Given the description of an element on the screen output the (x, y) to click on. 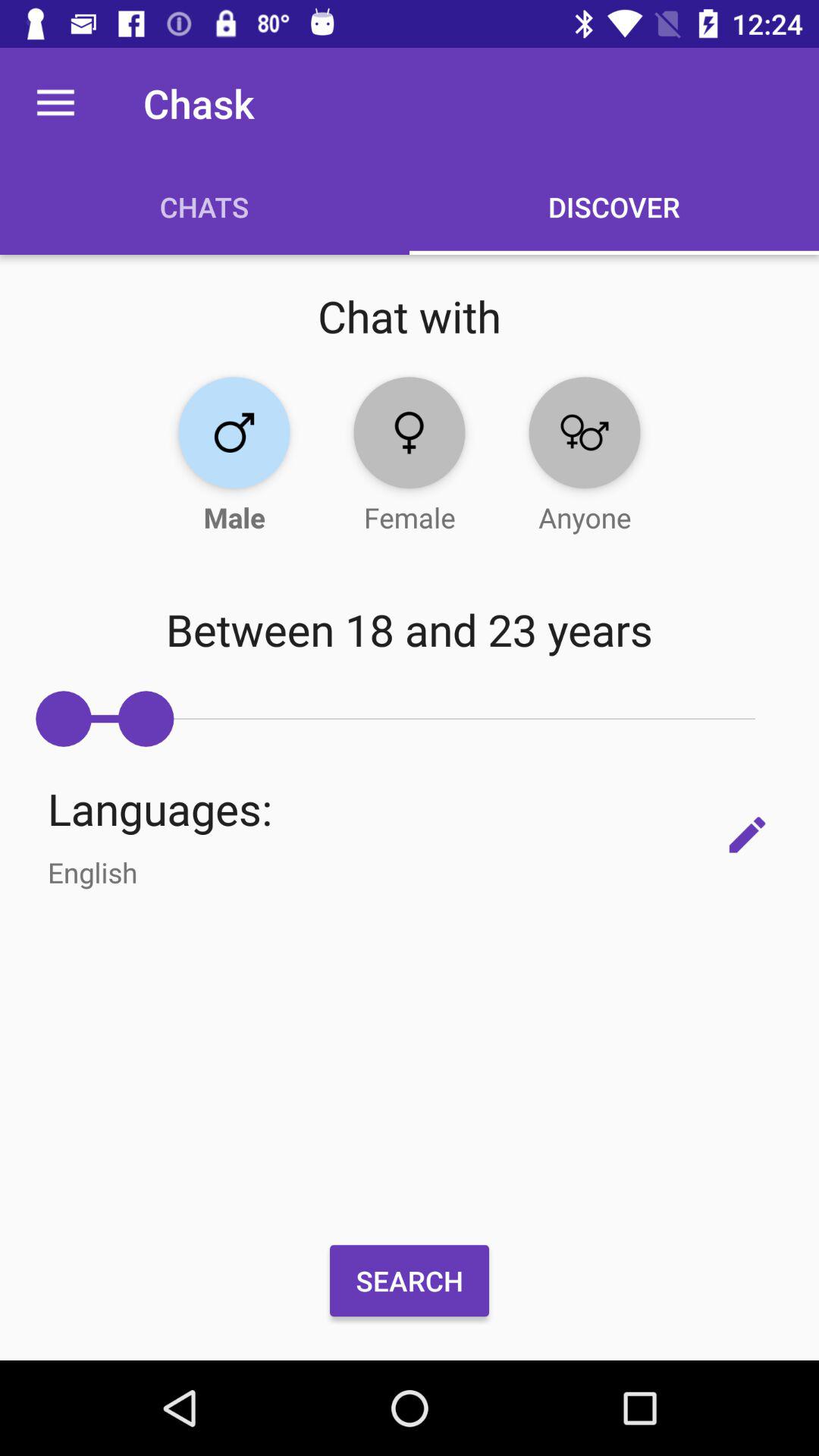
select mixed gender preference (584, 432)
